Given the description of an element on the screen output the (x, y) to click on. 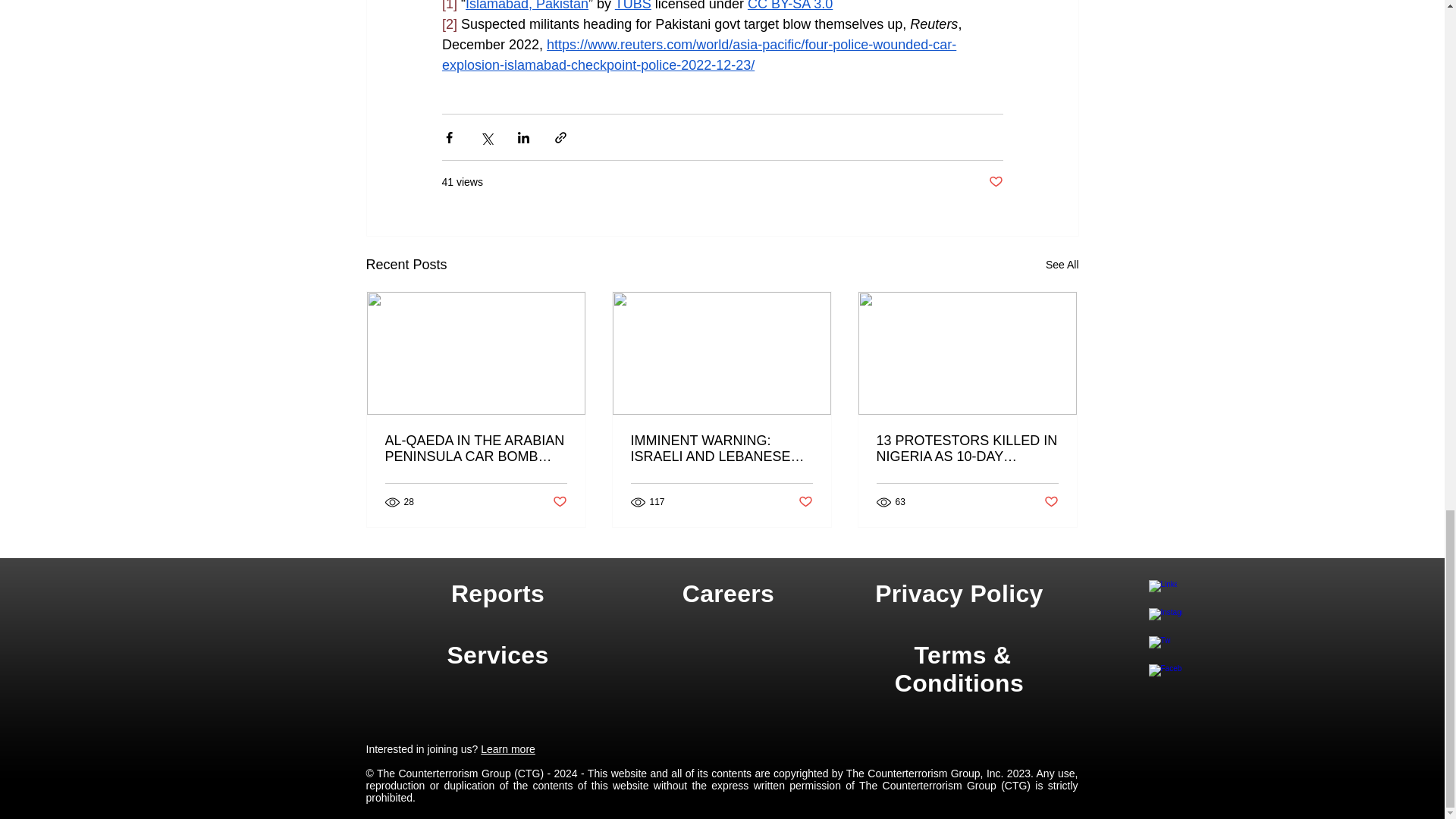
CC BY-SA 3.0 (788, 5)
See All (1061, 264)
Post not marked as liked (995, 182)
Post not marked as liked (558, 502)
Islamabad, Pakistan (526, 5)
TUBS (632, 5)
